Given the description of an element on the screen output the (x, y) to click on. 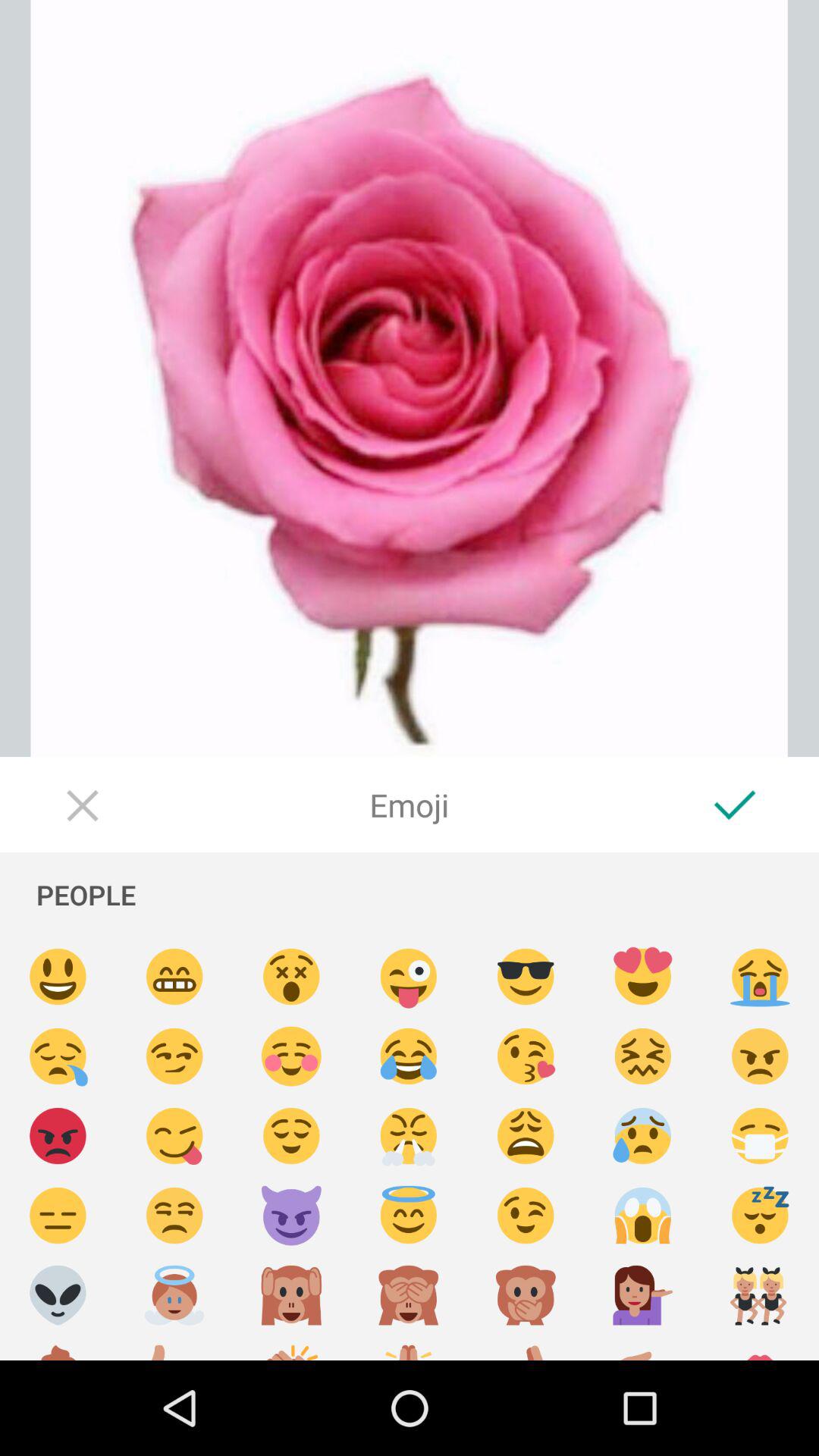
emoji select (760, 1136)
